Given the description of an element on the screen output the (x, y) to click on. 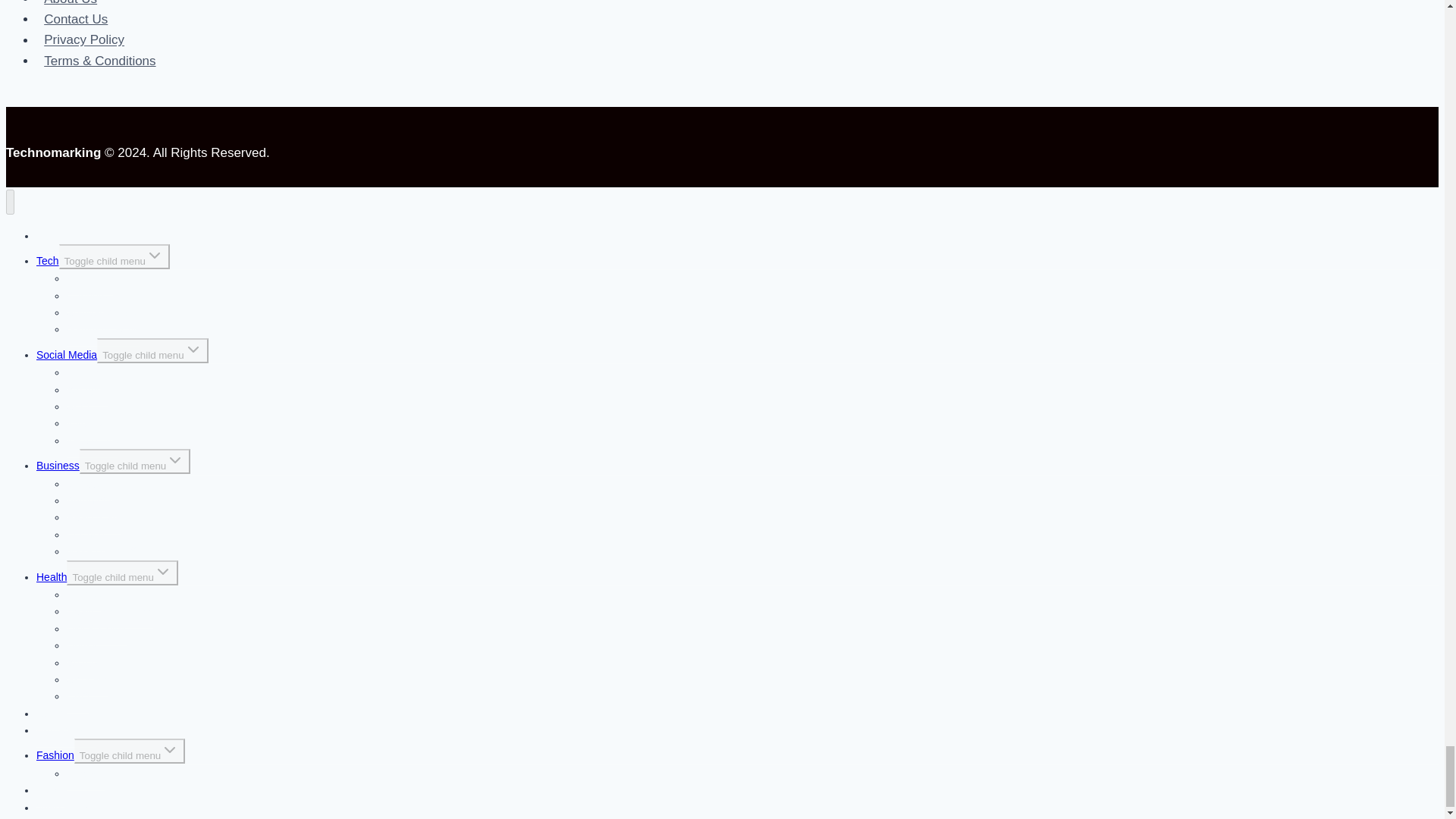
Expand (162, 571)
Expand (154, 255)
Expand (193, 349)
Expand (174, 460)
